Given the description of an element on the screen output the (x, y) to click on. 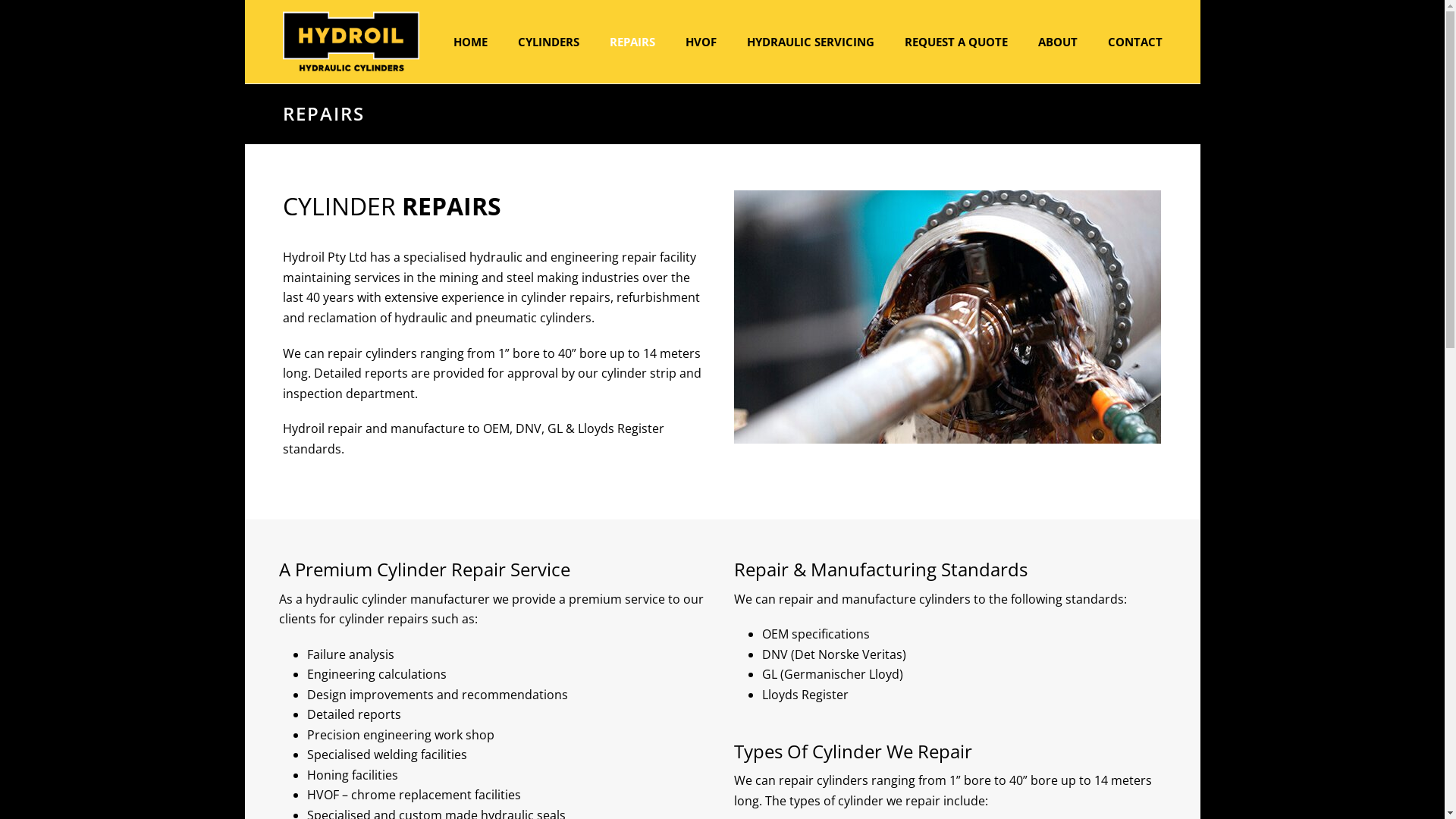
HVOF Element type: text (700, 41)
REQUEST A QUOTE Element type: text (955, 41)
REPAIRS Element type: text (632, 41)
CONTACT Element type: text (1134, 41)
ABOUT Element type: text (1057, 41)
CYLINDERS Element type: text (547, 41)
HOME Element type: text (470, 41)
HYDRAULIC SERVICING Element type: text (809, 41)
